Given the description of an element on the screen output the (x, y) to click on. 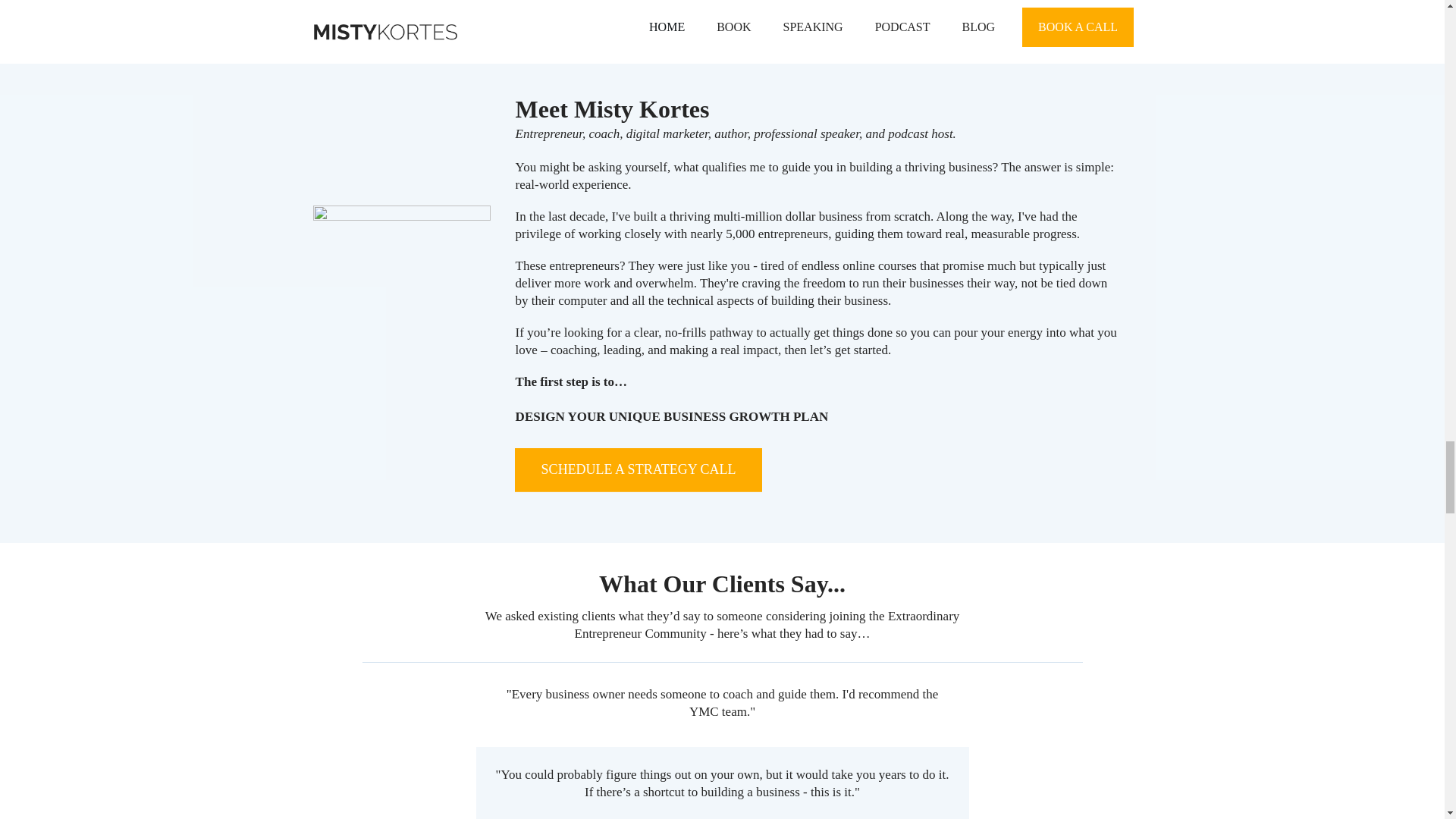
SCHEDULE A STRATEGY CALL (638, 469)
TRAINING WITH MISTY (490, 3)
